Given the description of an element on the screen output the (x, y) to click on. 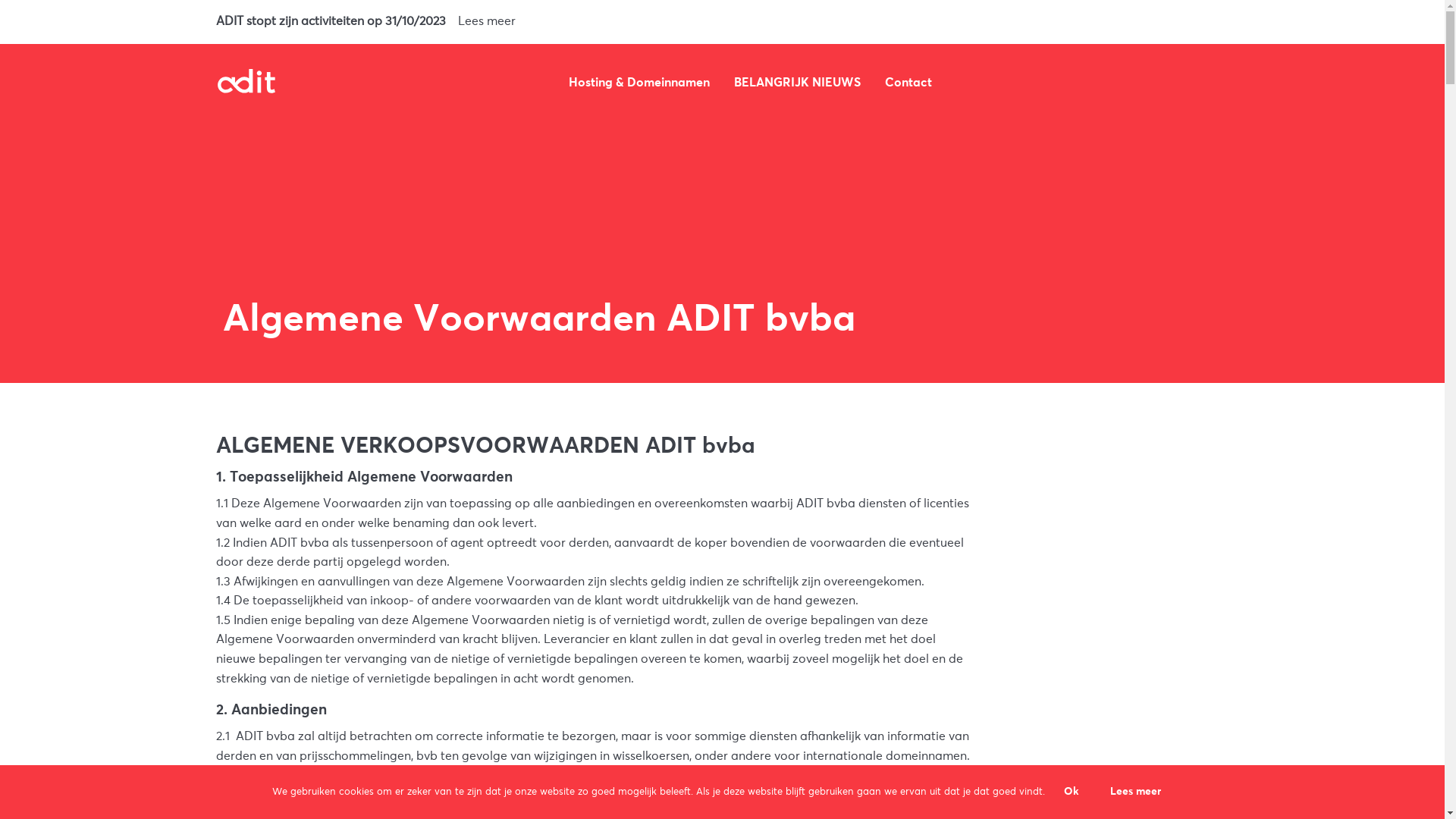
  Element type: text (1065, 82)
  Element type: text (1120, 82)
  Element type: text (983, 82)
Hosting & Domeinnamen Element type: text (638, 82)
Ok Element type: text (1071, 791)
  Element type: text (1147, 82)
Lees meer Element type: text (1135, 791)
  Element type: text (1226, 82)
  Element type: text (1199, 82)
  Element type: text (956, 82)
ADIT stopt zijn activiteiten op 31/10/2023 Lees meer Element type: text (721, 21)
  Element type: text (1011, 82)
Contact Element type: text (907, 82)
BELANGRIJK NIEUWS Element type: text (797, 82)
  Element type: text (1093, 82)
  Element type: text (1038, 82)
